Given the description of an element on the screen output the (x, y) to click on. 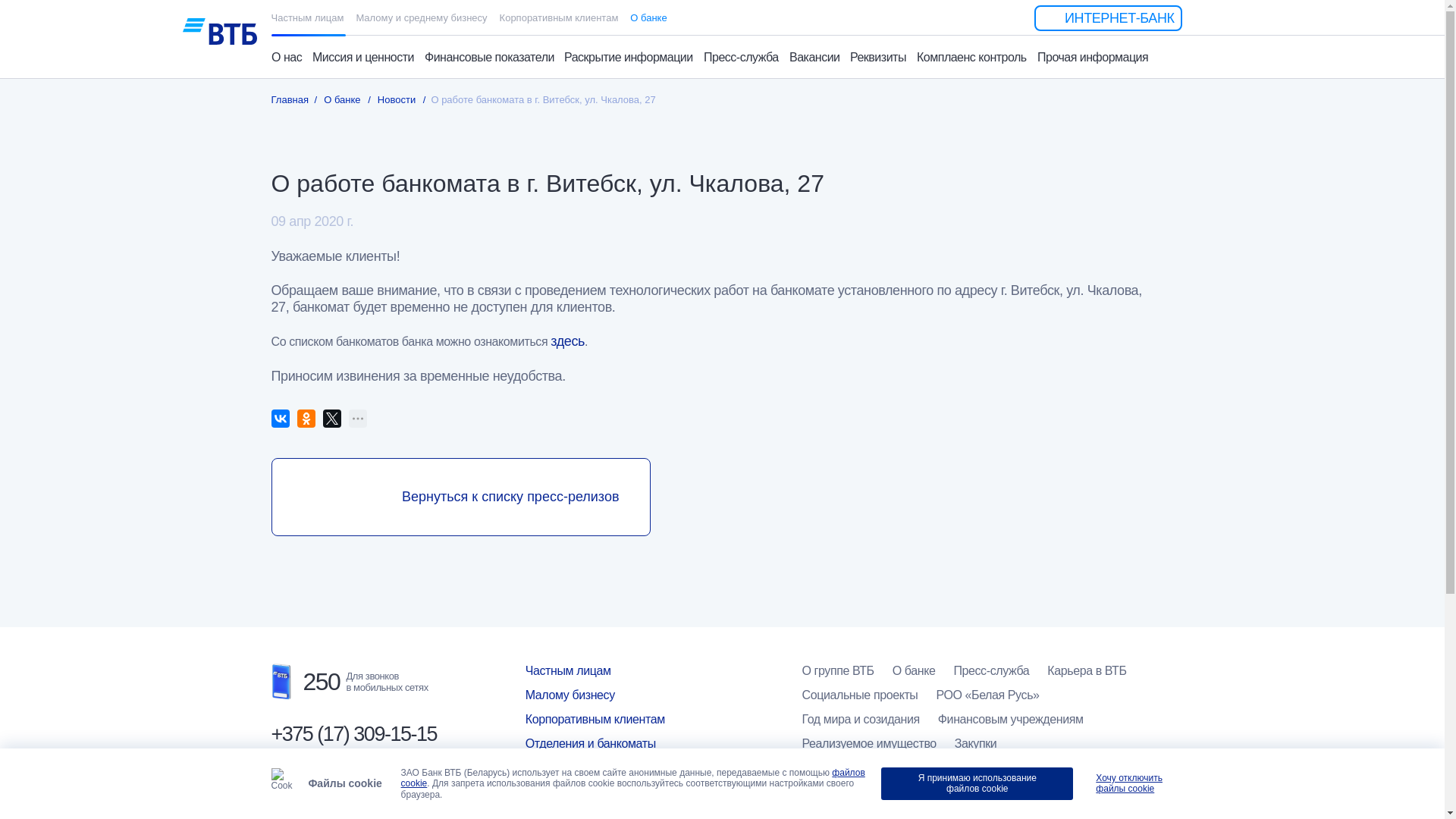
250 Element type: text (305, 681)
+375 (29) 309-15-15 Element type: text (353, 762)
+375 (17) 309-15-15 Element type: text (353, 734)
+375 (33) 309-15-15 Element type: text (353, 790)
Twitter Element type: hover (332, 418)
